Given the description of an element on the screen output the (x, y) to click on. 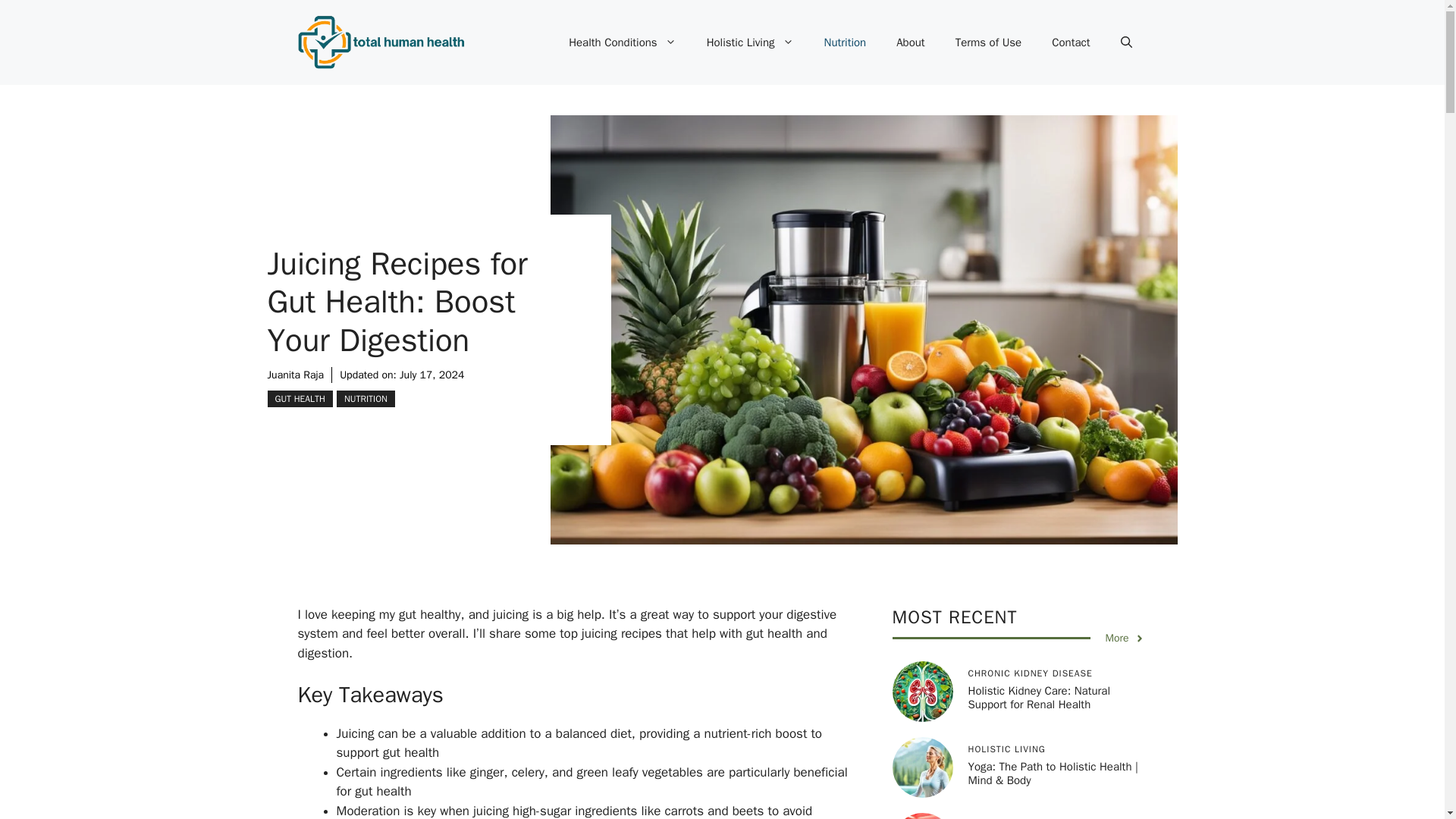
Juanita Raja (294, 374)
Contact (1070, 42)
NUTRITION (365, 398)
About (909, 42)
More (1124, 637)
Terms of Use (988, 42)
Health Conditions (622, 42)
Holistic Living (750, 42)
Holistic Kidney Care: Natural Support for Renal Health (1038, 697)
Nutrition (844, 42)
